Given the description of an element on the screen output the (x, y) to click on. 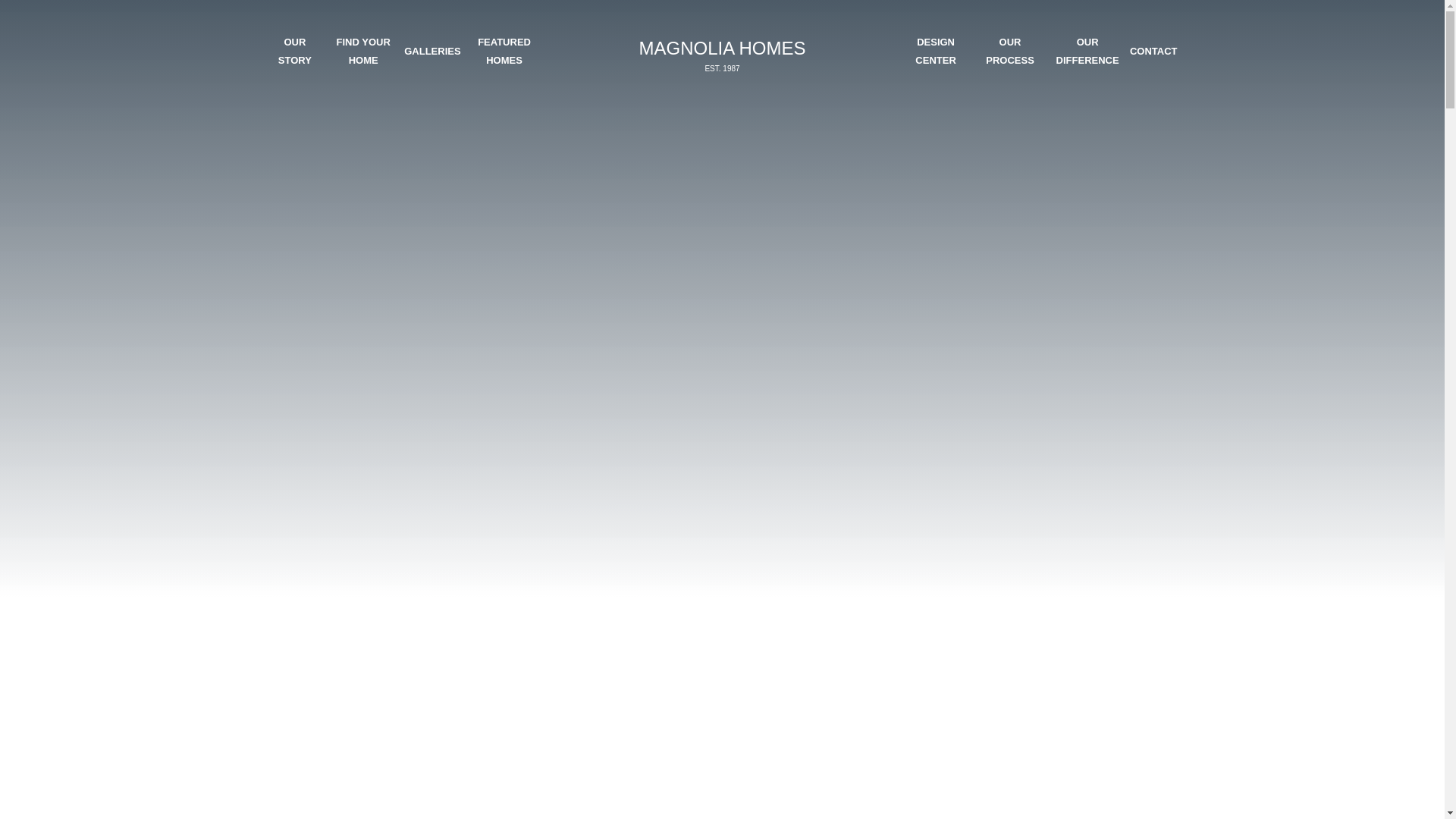
GALLERIES (721, 54)
OUR PROCESS (432, 50)
FEATURED HOMES (1009, 51)
CONTACT (504, 51)
FIND YOUR HOME (1153, 50)
OUR STORY (363, 51)
DESIGN CENTER (294, 51)
OUR DIFFERENCE (935, 51)
